Given the description of an element on the screen output the (x, y) to click on. 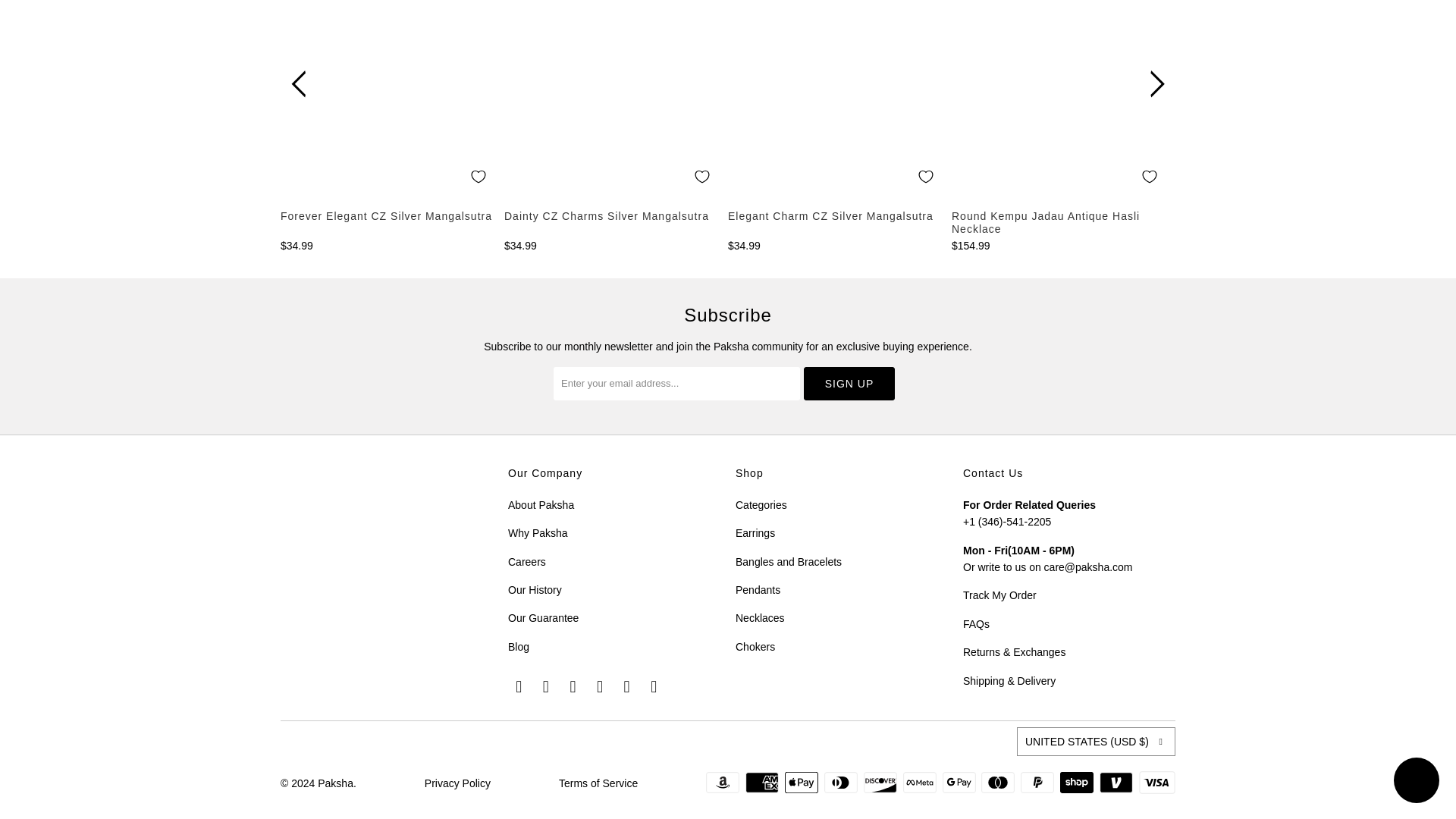
Meta Pay (920, 782)
Paksha on Instagram (600, 687)
Paksha on Pinterest (573, 687)
Google Pay (960, 782)
Diners Club (842, 782)
Paksha on YouTube (546, 687)
Amazon (724, 782)
Paksha on Facebook (519, 687)
PayPal (1038, 782)
Mastercard (999, 782)
